Given the description of an element on the screen output the (x, y) to click on. 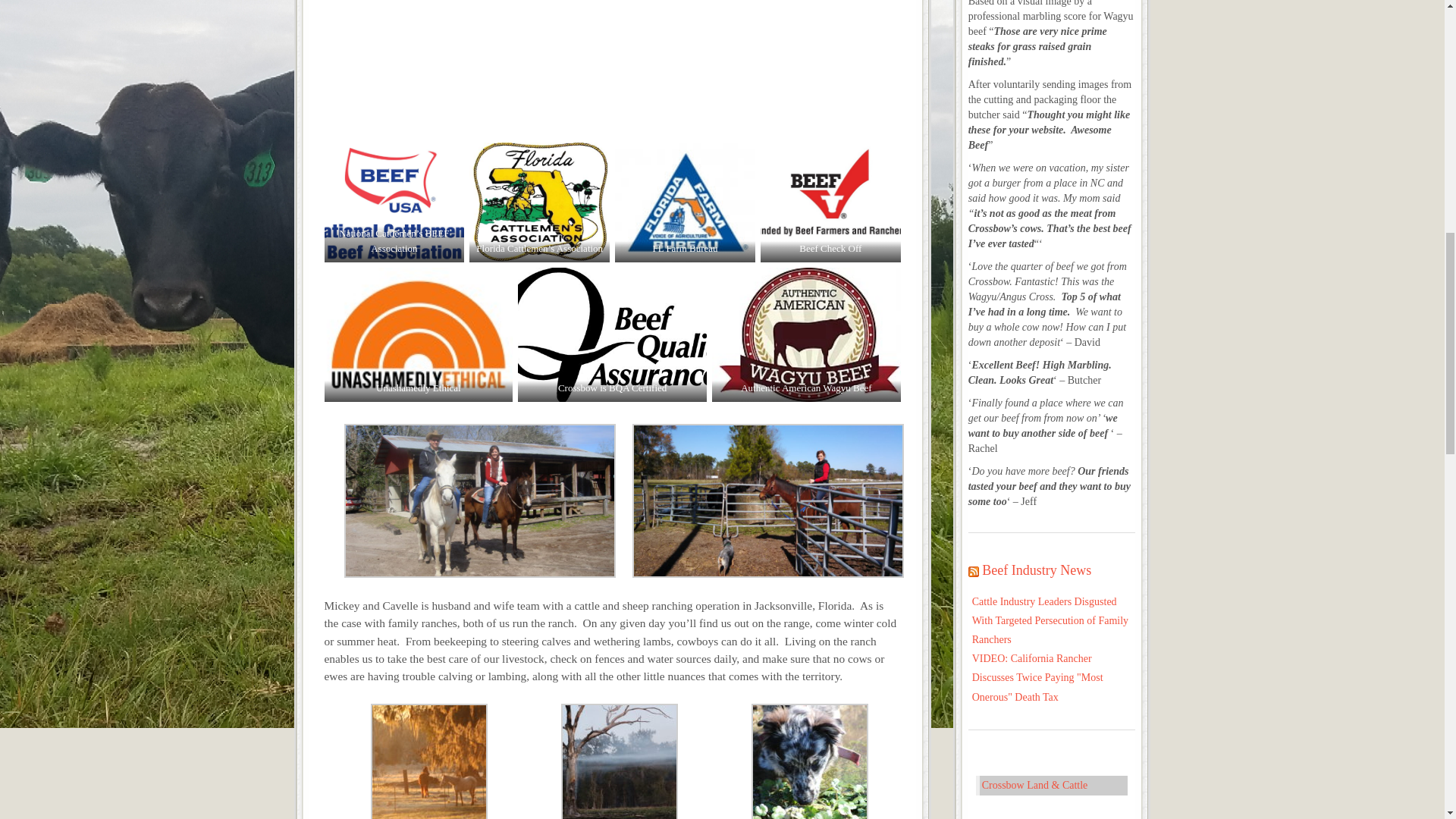
Beef Industry News (1035, 570)
